Given the description of an element on the screen output the (x, y) to click on. 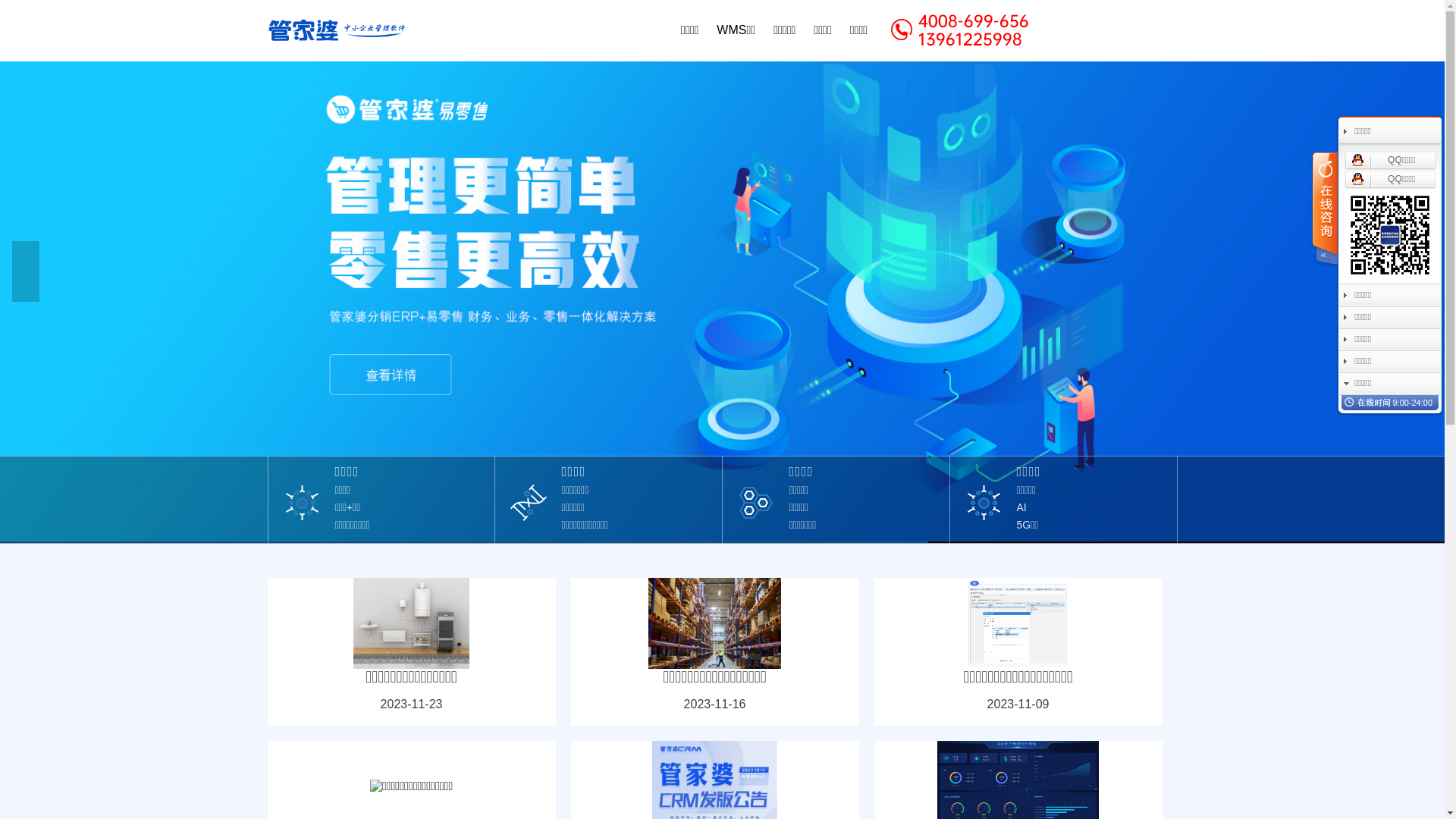
  Element type: text (1323, 210)
